Given the description of an element on the screen output the (x, y) to click on. 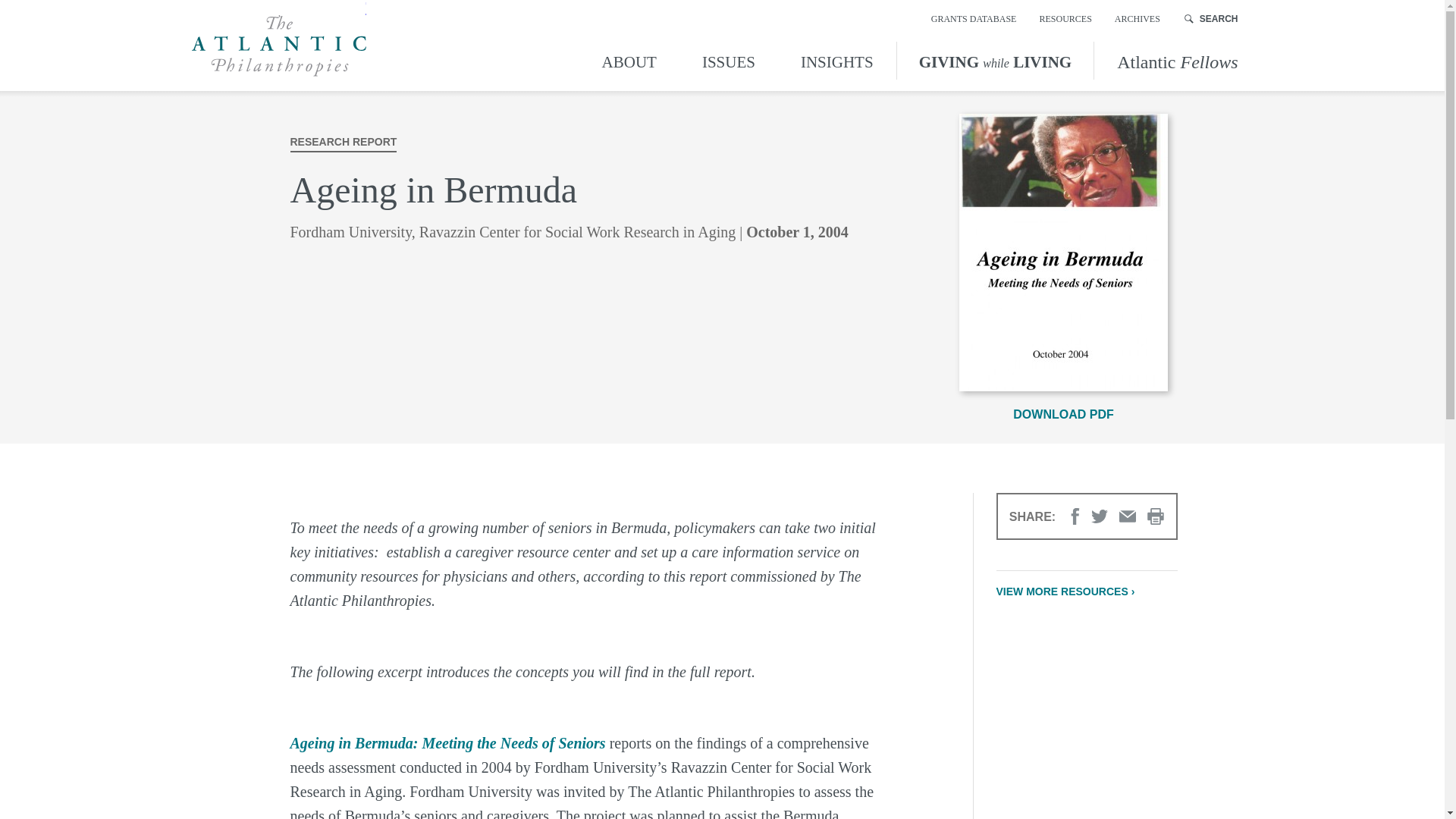
Skip to main content (14, 14)
ABOUT (632, 60)
ISSUES (728, 60)
SEARCH (1212, 18)
GRANTS DATABASE (973, 18)
ARCHIVES (1137, 18)
RESOURCES (1064, 18)
The Atlantic Philanthropies (277, 45)
